Given the description of an element on the screen output the (x, y) to click on. 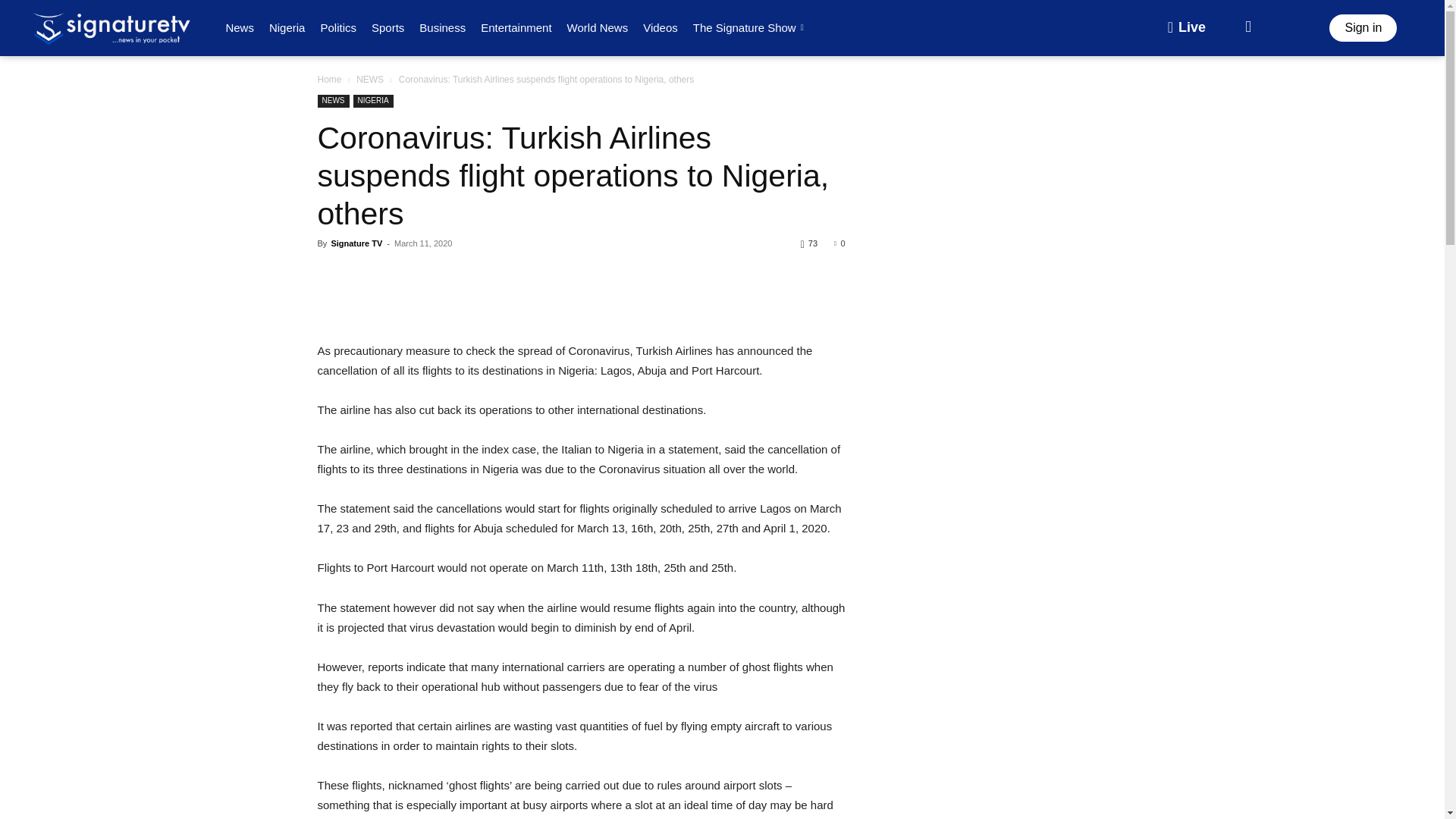
View all posts in NEWS (370, 79)
Sports (388, 27)
Politics (338, 27)
Videos (659, 27)
The Signature Show (750, 27)
World News (597, 27)
Sign in (1362, 27)
Entertainment (516, 27)
Live (1186, 28)
News (239, 27)
